Given the description of an element on the screen output the (x, y) to click on. 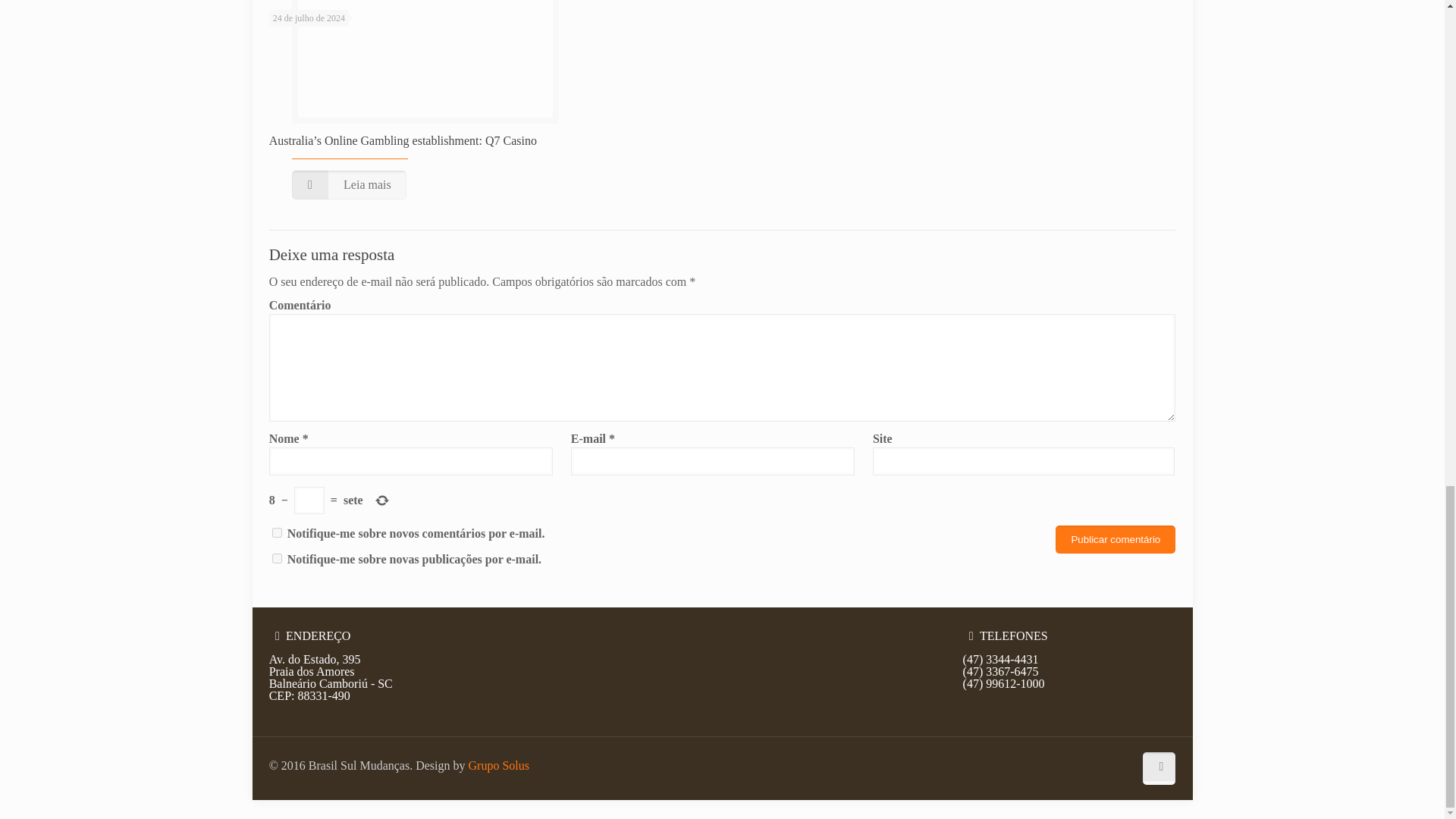
Leia mais (349, 184)
subscribe (277, 558)
subscribe (277, 532)
Grupo Solus (498, 765)
